Given the description of an element on the screen output the (x, y) to click on. 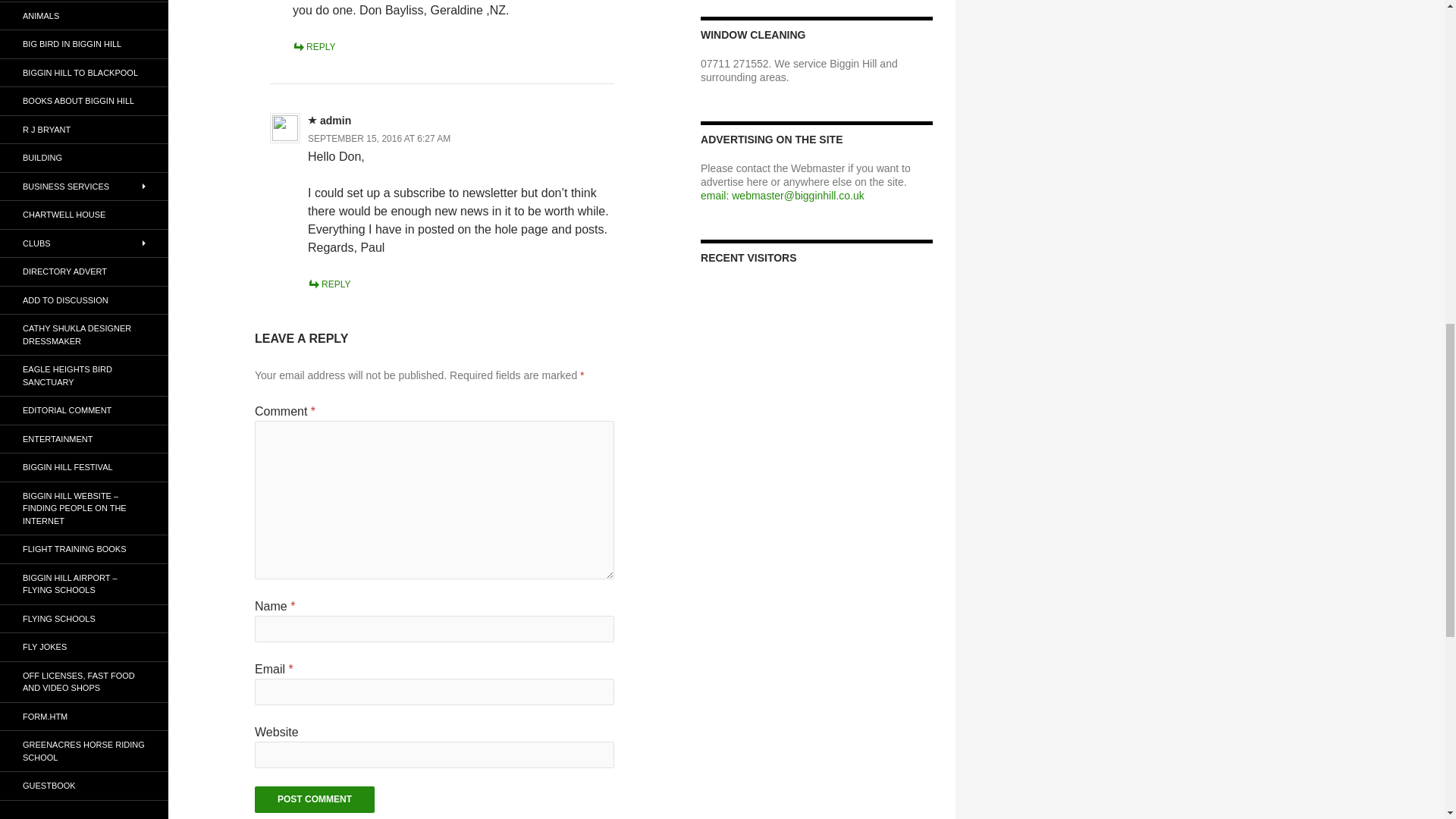
Post Comment (314, 799)
REPLY (328, 284)
REPLY (313, 46)
Post Comment (314, 799)
SEPTEMBER 15, 2016 AT 6:27 AM (378, 138)
